Given the description of an element on the screen output the (x, y) to click on. 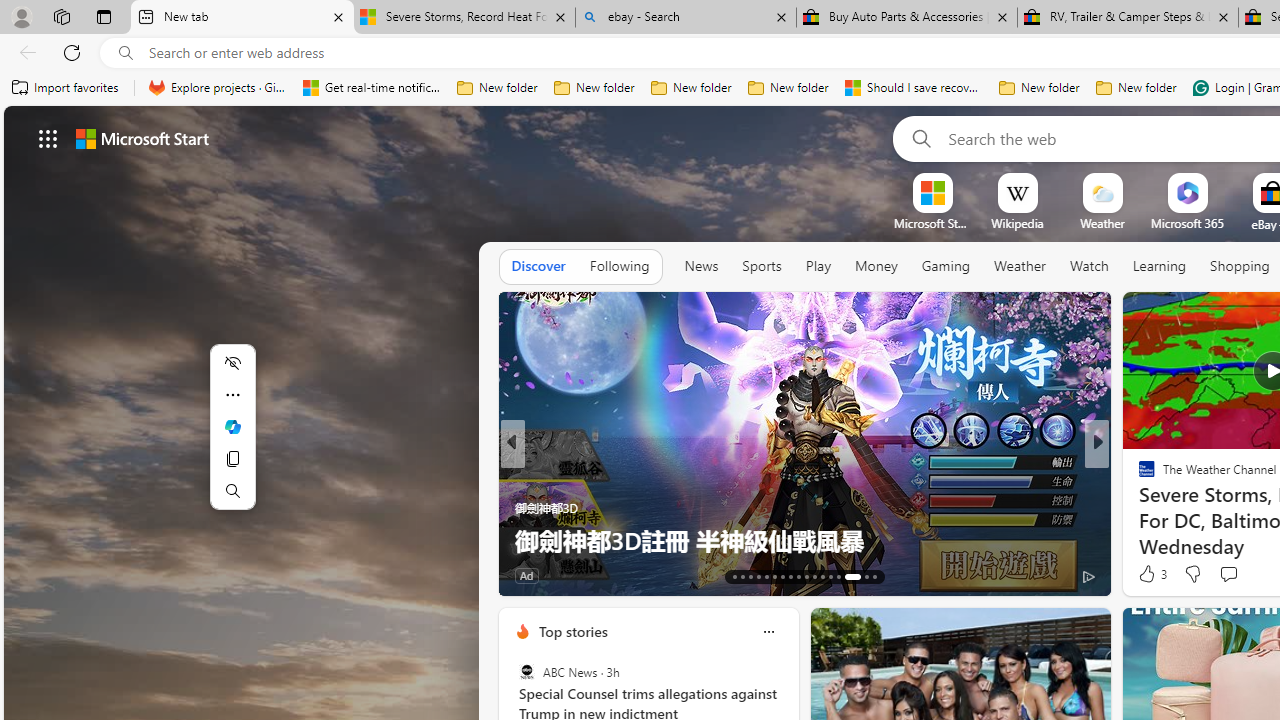
New tab (242, 17)
AutomationID: tab-22 (806, 576)
View comments 167 Comment (11, 575)
AutomationID: tab-16 (757, 576)
Top stories (572, 631)
MUO (522, 507)
Play (818, 267)
Microsoft 365 (1186, 223)
AutomationID: tab-14 (742, 576)
More options (768, 631)
Watch (1089, 267)
AutomationID: tab-13 (733, 576)
Ask Copilot (232, 426)
Copy (232, 458)
AutomationID: tab-28 (859, 576)
